Given the description of an element on the screen output the (x, y) to click on. 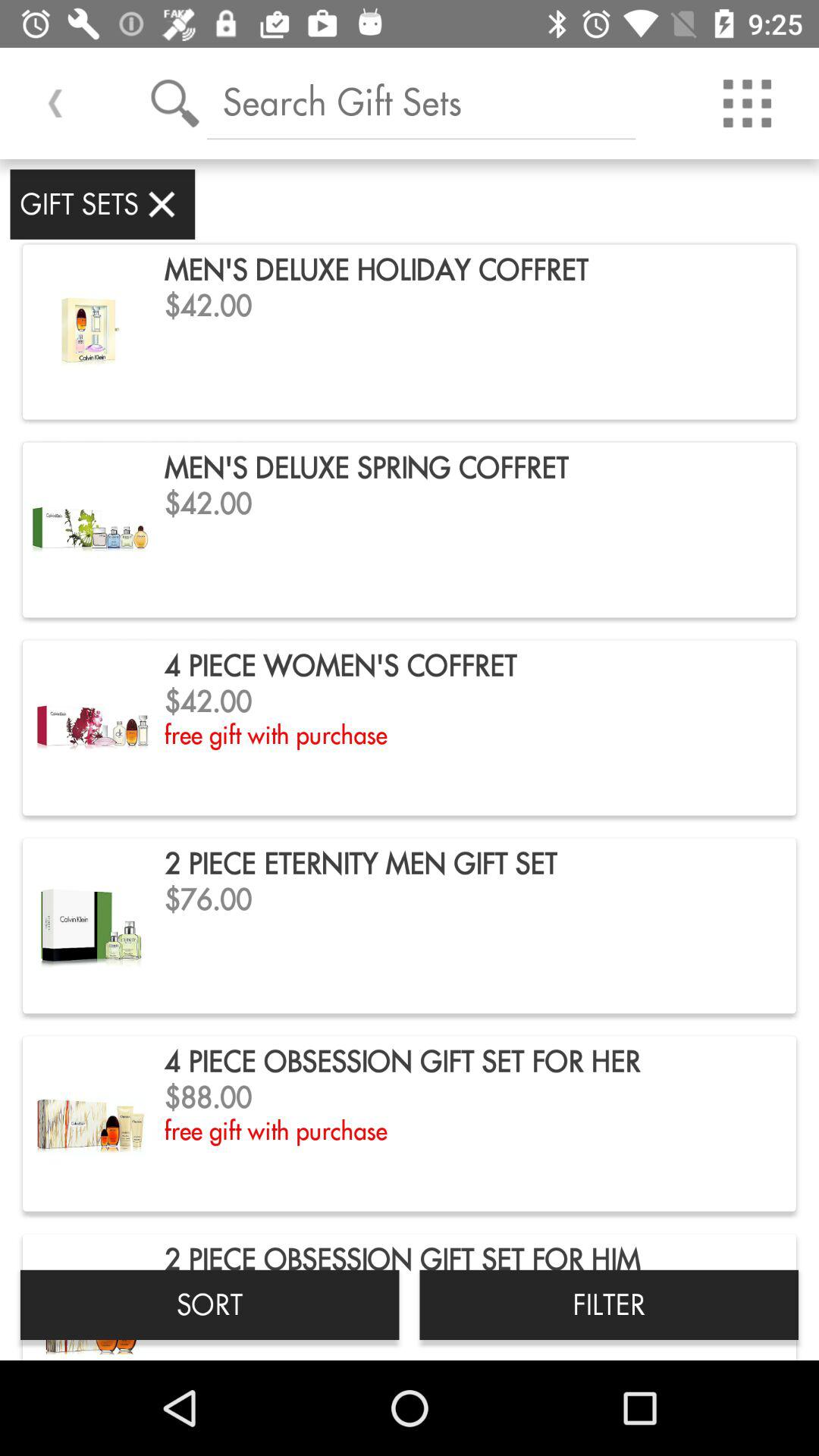
turn off the sort (209, 1304)
